Given the description of an element on the screen output the (x, y) to click on. 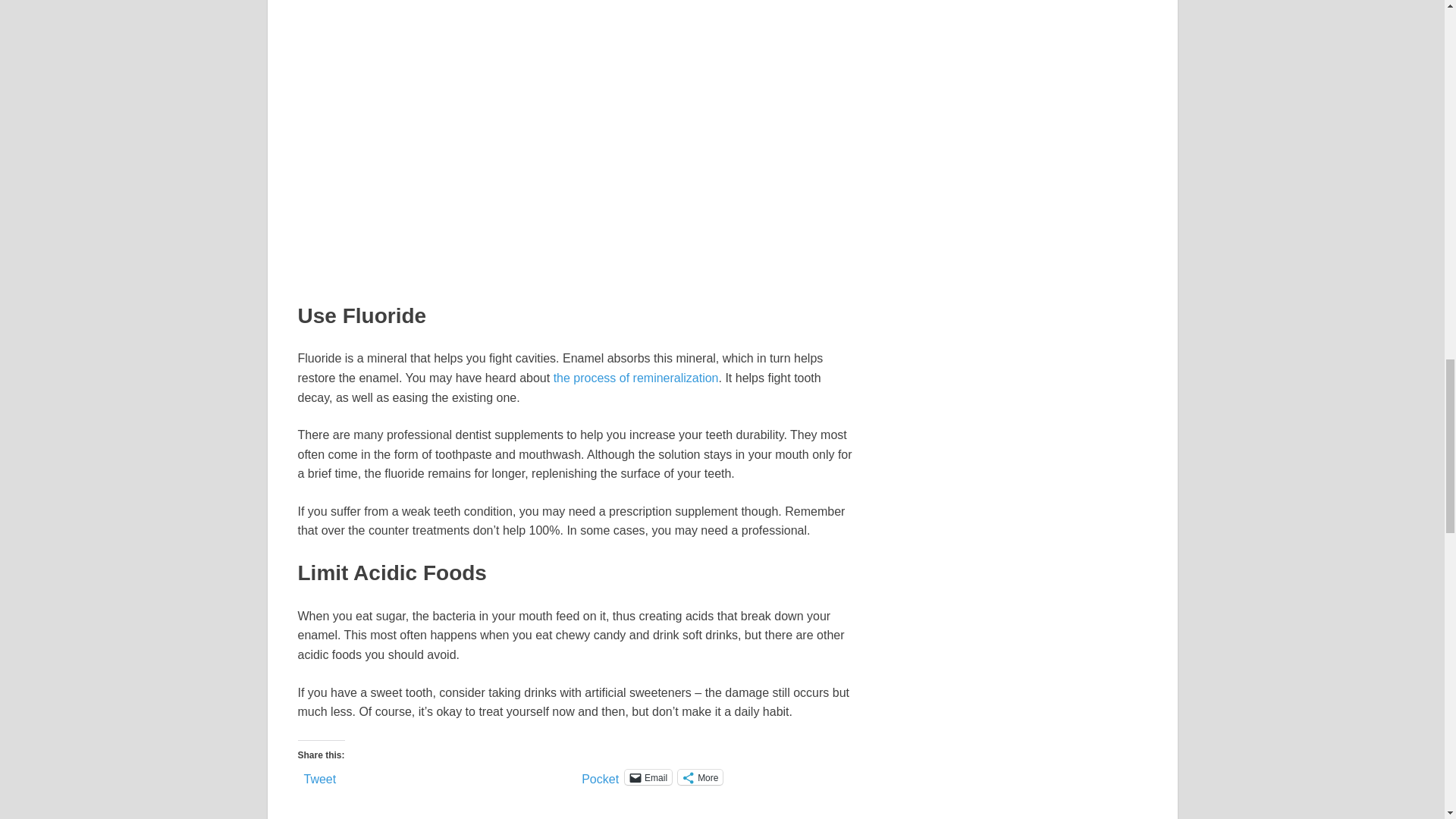
Email (647, 776)
Pocket (599, 779)
Tweet (319, 775)
the process of remineralization (636, 377)
Click to email a link to a friend (647, 776)
More (700, 776)
